Given the description of an element on the screen output the (x, y) to click on. 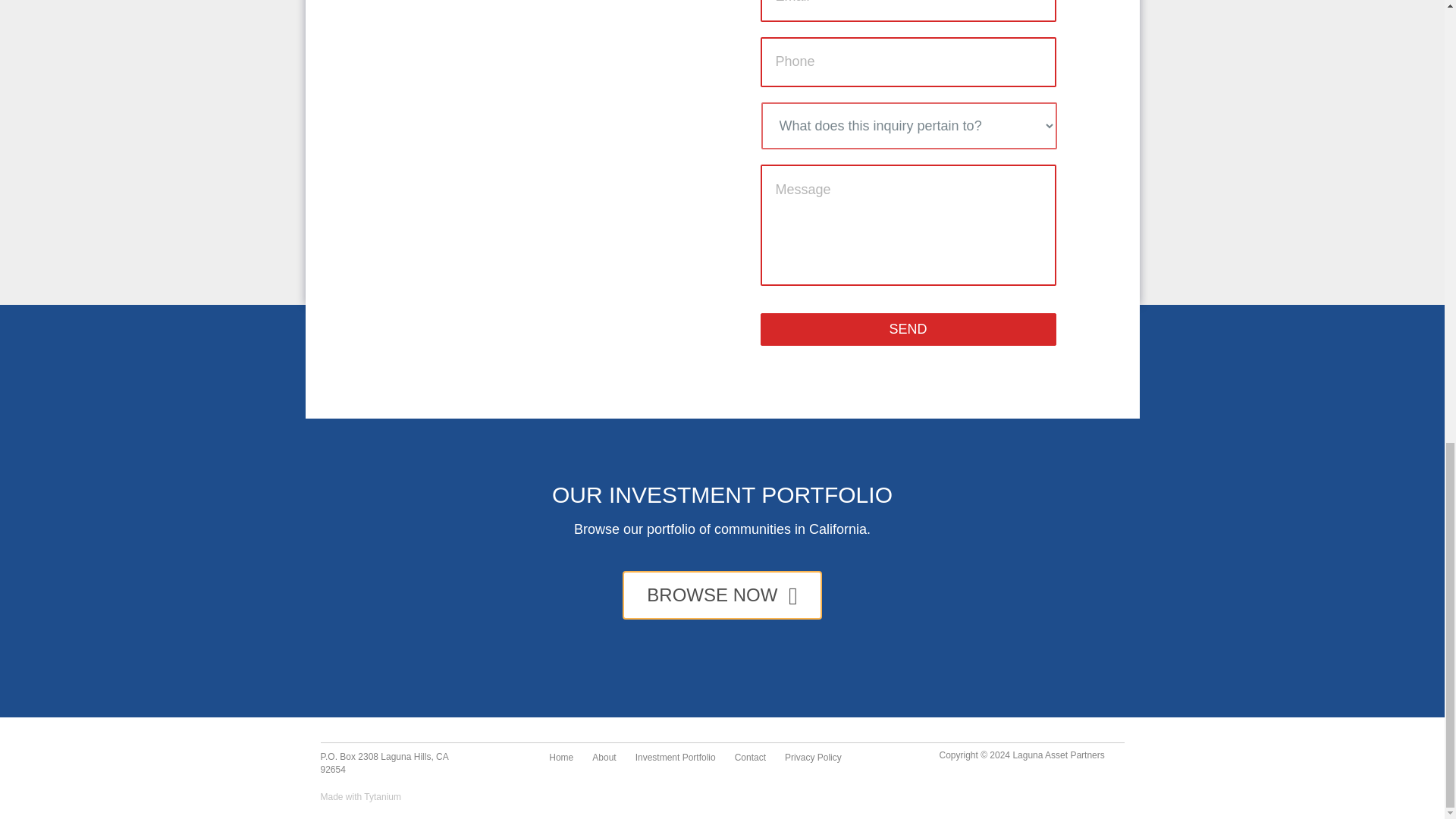
Home (561, 757)
BROWSE NOW (722, 594)
About (603, 757)
Made with Tytanium (360, 796)
SEND (907, 329)
Made with Tytanium (360, 796)
Contact (749, 757)
Investment Portfolio (675, 757)
Privacy Policy (813, 757)
SEND (907, 329)
